Given the description of an element on the screen output the (x, y) to click on. 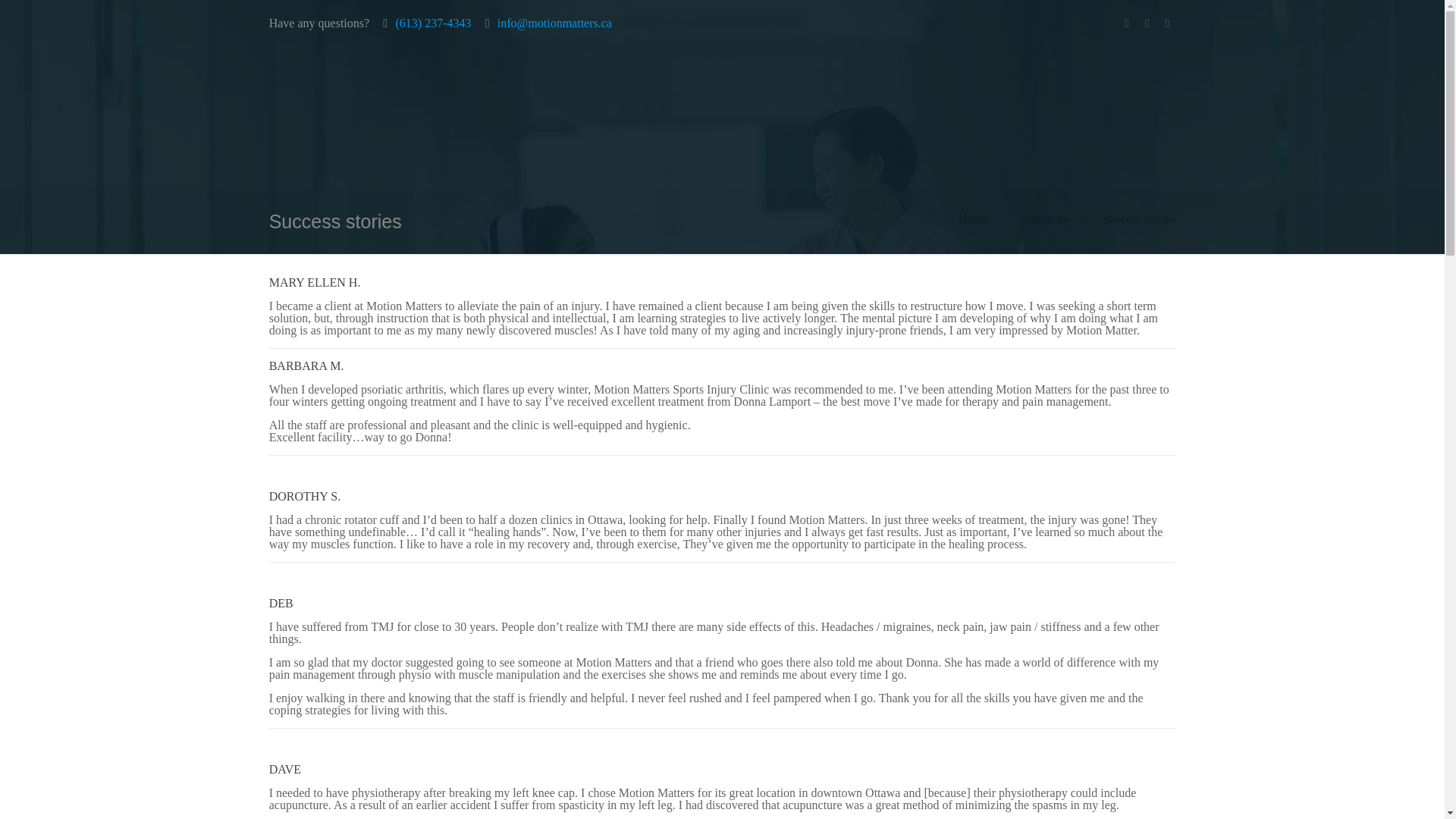
Facebook (1126, 23)
LinkedIn (1146, 23)
Instagram (1166, 23)
